Given the description of an element on the screen output the (x, y) to click on. 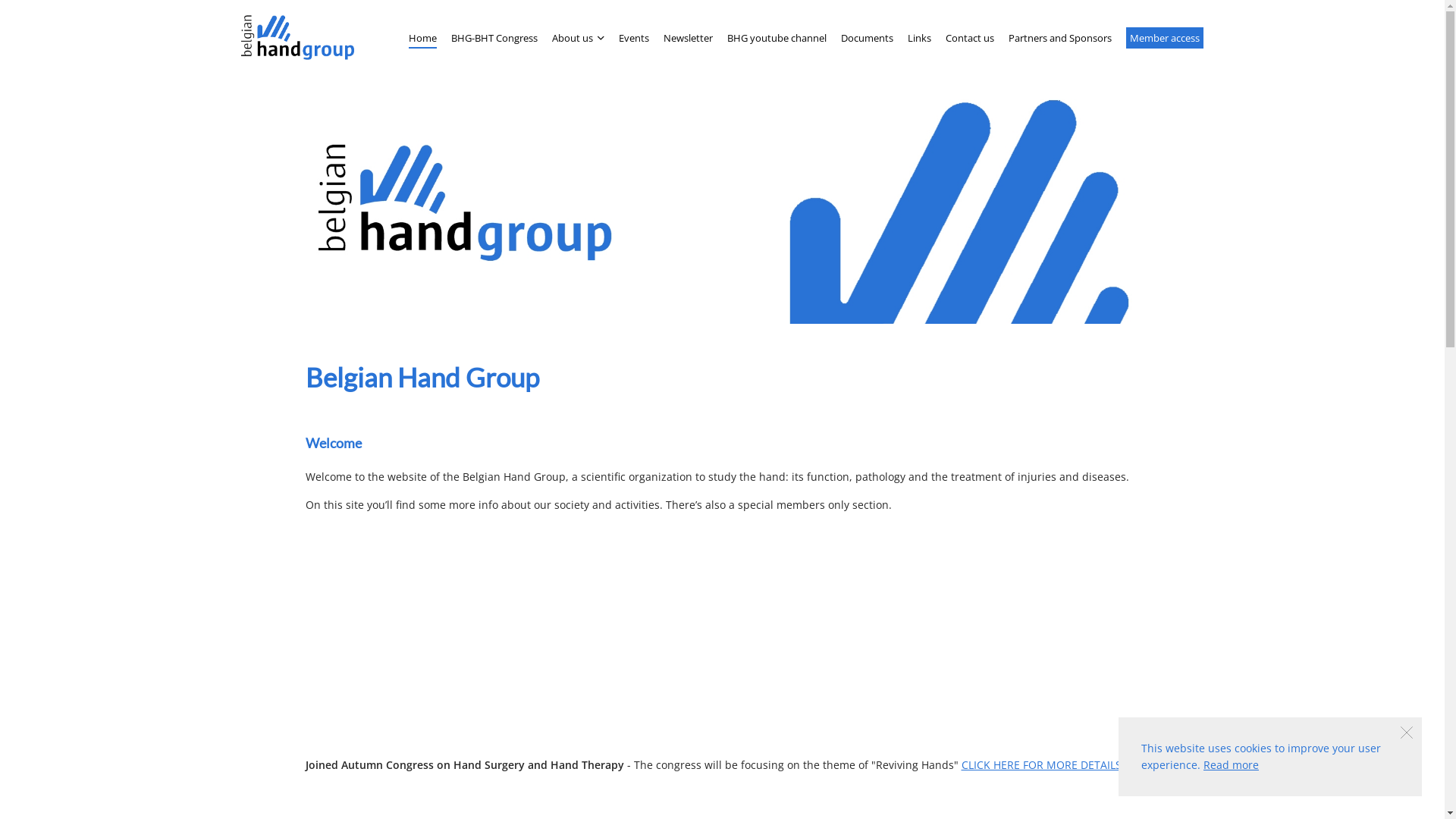
Links Element type: text (919, 37)
BHG-BHT Congress Element type: text (494, 37)
CLICK HERE FOR MORE DETAILS Element type: text (1041, 764)
About us   Element type: text (578, 37)
Events Element type: text (633, 37)
Newsletter Element type: text (687, 37)
Documents Element type: text (866, 37)
BHG youtube channel Element type: text (776, 37)
Home Element type: text (422, 37)
Read more Element type: text (1230, 764)
Member access Element type: text (1164, 37)
Contact us Element type: text (969, 37)
Partners and Sponsors Element type: text (1059, 37)
